Given the description of an element on the screen output the (x, y) to click on. 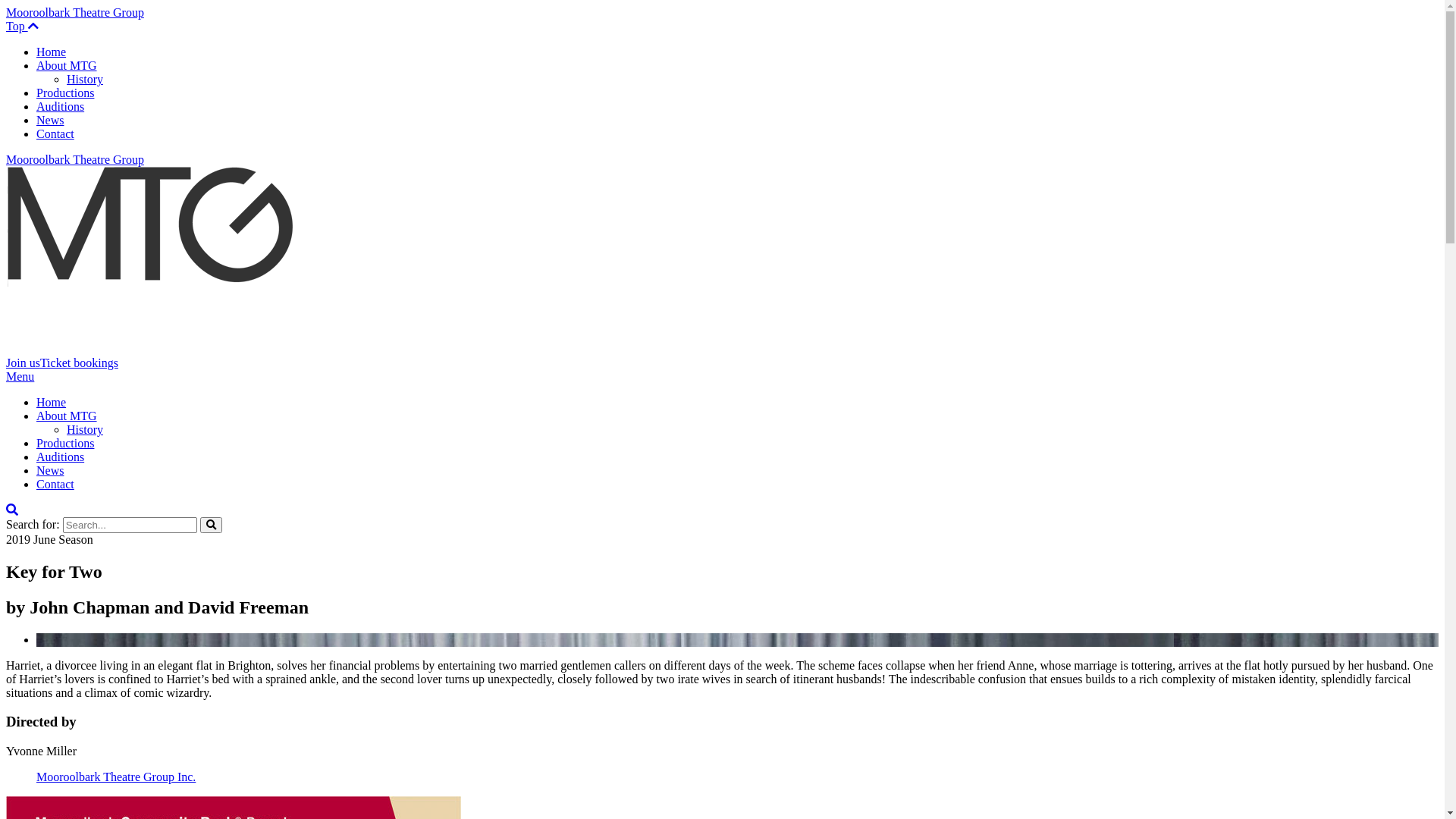
Contact Element type: text (55, 133)
Top Element type: text (22, 25)
Auditions Element type: text (60, 456)
Auditions Element type: text (60, 106)
Mooroolbark Theatre Group Inc. Element type: text (115, 776)
Ticket bookings Element type: text (79, 362)
Menu Element type: text (20, 376)
About MTG Element type: text (66, 65)
Productions Element type: text (65, 92)
History Element type: text (84, 429)
History Element type: text (84, 78)
About MTG Element type: text (66, 415)
Productions Element type: text (65, 442)
Mooroolbark Theatre Group Element type: text (75, 12)
News Element type: text (49, 470)
Join us Element type: text (23, 362)
Home Element type: text (50, 51)
News Element type: text (49, 119)
Home Element type: text (50, 401)
Mooroolbark Theatre Group Element type: text (75, 159)
Contact Element type: text (55, 483)
